Given the description of an element on the screen output the (x, y) to click on. 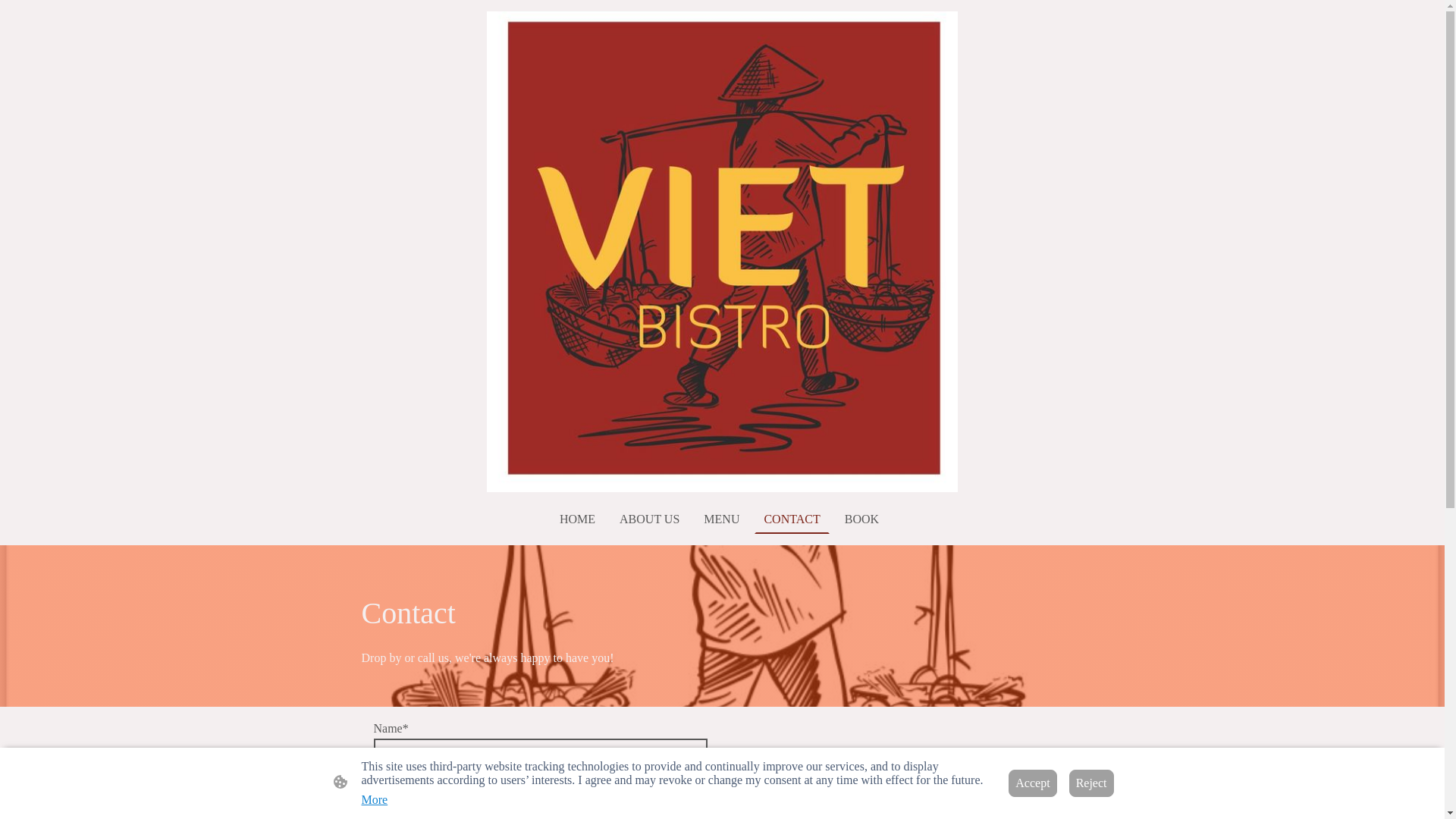
Reject (1090, 782)
HOME (576, 519)
MENU (720, 519)
BOOK (861, 519)
More (374, 799)
ABOUT US (649, 519)
Accept (1033, 782)
CONTACT (791, 519)
